Given the description of an element on the screen output the (x, y) to click on. 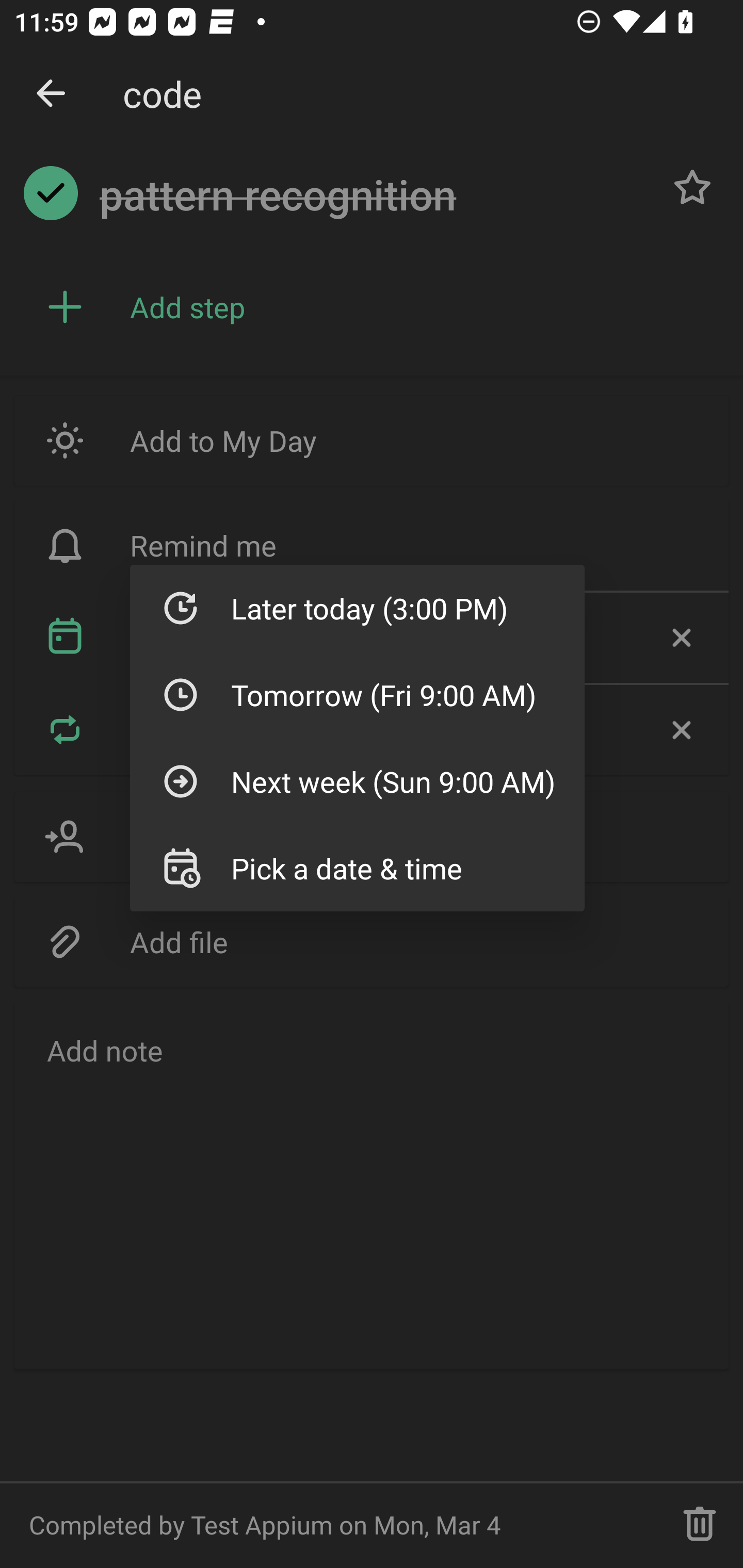
Later today (3:00 PM) (357, 607)
Tomorrow (Fri 9:00 AM) (357, 694)
Next week (Sun 9:00 AM) (357, 781)
Pick a date & time (357, 867)
